Given the description of an element on the screen output the (x, y) to click on. 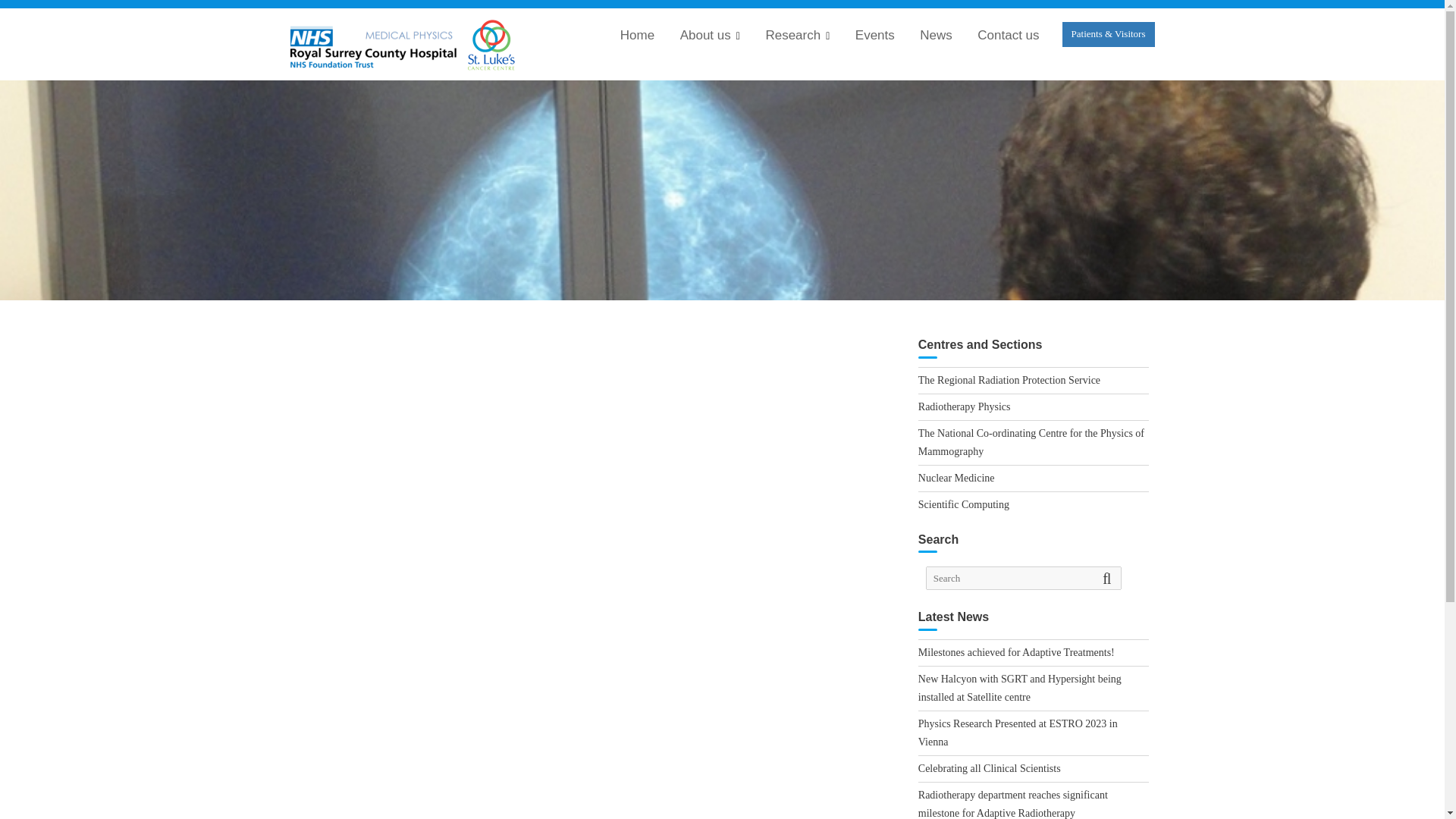
Milestones achieved for Adaptive Treatments! (1016, 652)
Celebrating all Clinical Scientists (989, 767)
News (935, 35)
Radiotherapy Physics (964, 406)
Scientific Computing (963, 504)
Research (797, 35)
About us (709, 35)
Physics Research Presented at ESTRO 2023 in Vienna (1018, 732)
Events (874, 35)
